Given the description of an element on the screen output the (x, y) to click on. 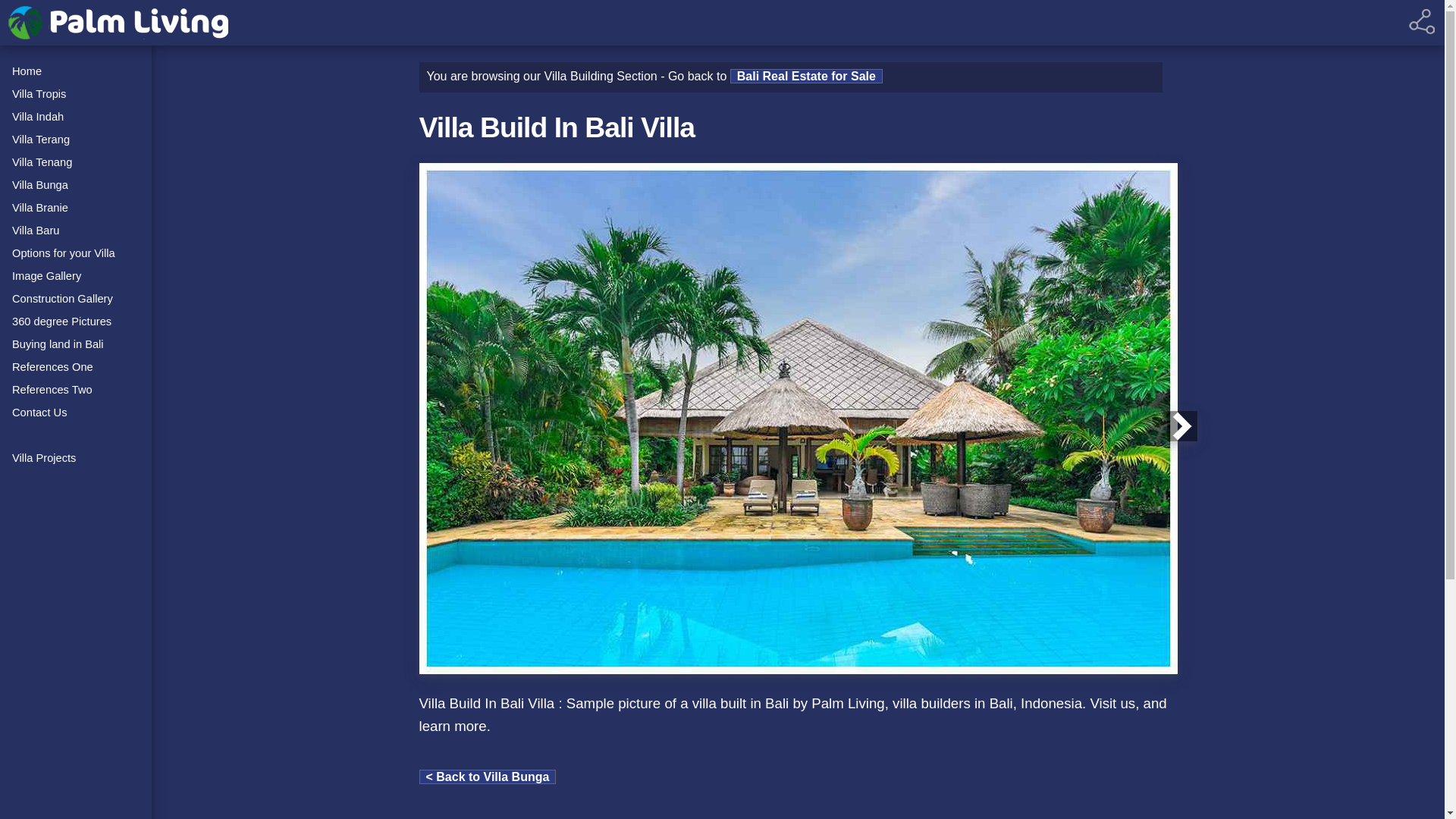
Villa Projects (76, 457)
360 degree Pictures (76, 320)
Contact Us (76, 411)
Construction Gallery (76, 298)
Villa Tropis (76, 93)
Image Gallery (76, 275)
Bali Real Estate for Sale (806, 75)
Villa Bunga (76, 184)
NEXT (1181, 426)
Buying land in Bali (76, 343)
References Two (76, 388)
Villa Terang (76, 138)
Villa Tenang (76, 161)
Options for your Villa (76, 252)
